Given the description of an element on the screen output the (x, y) to click on. 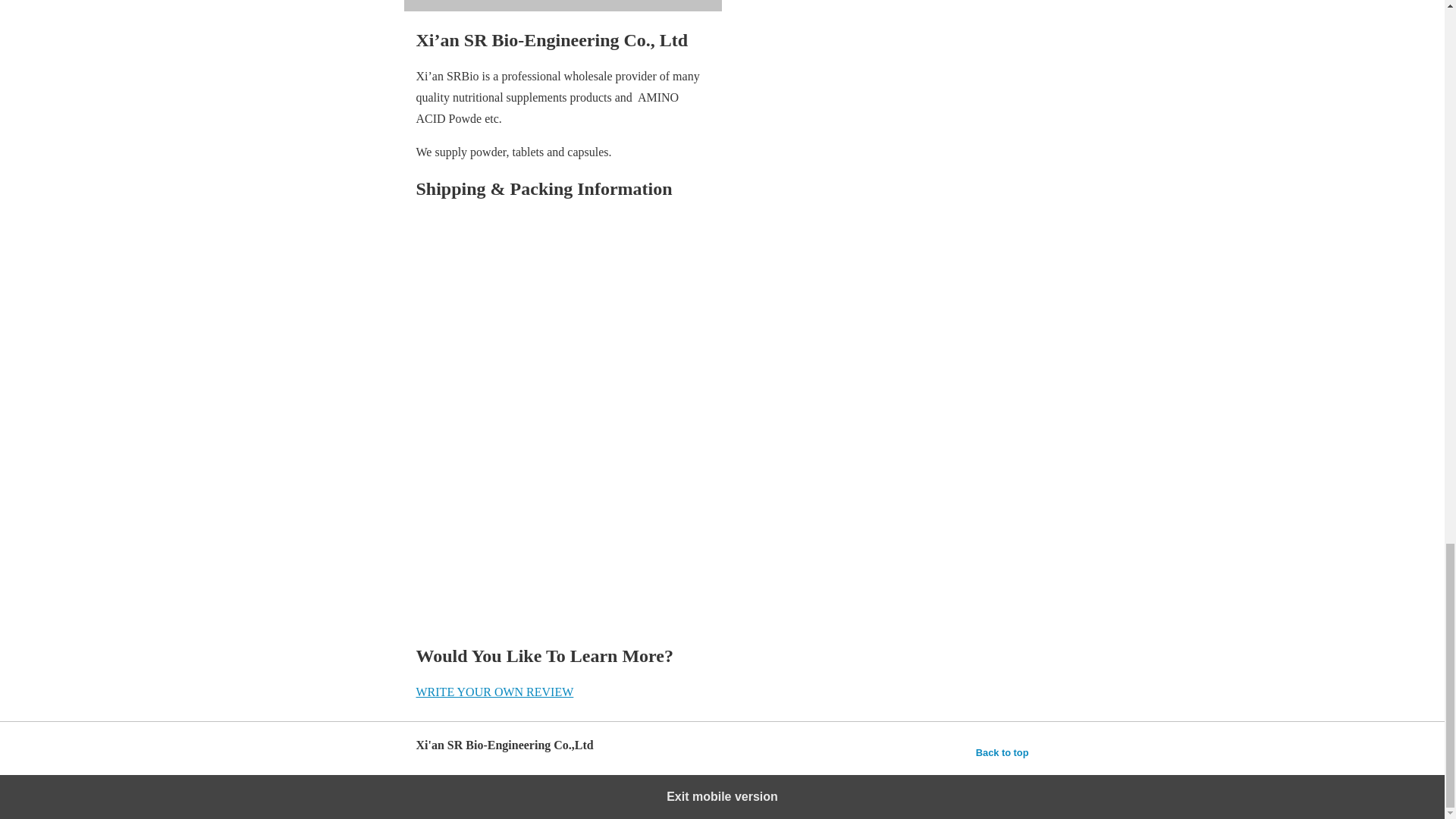
Packing 2 (699, 528)
Back to top (1002, 752)
WRITE YOUR OWN REVIEW (493, 691)
YouTube video player 1 (562, 5)
packing 1 (698, 316)
